Given the description of an element on the screen output the (x, y) to click on. 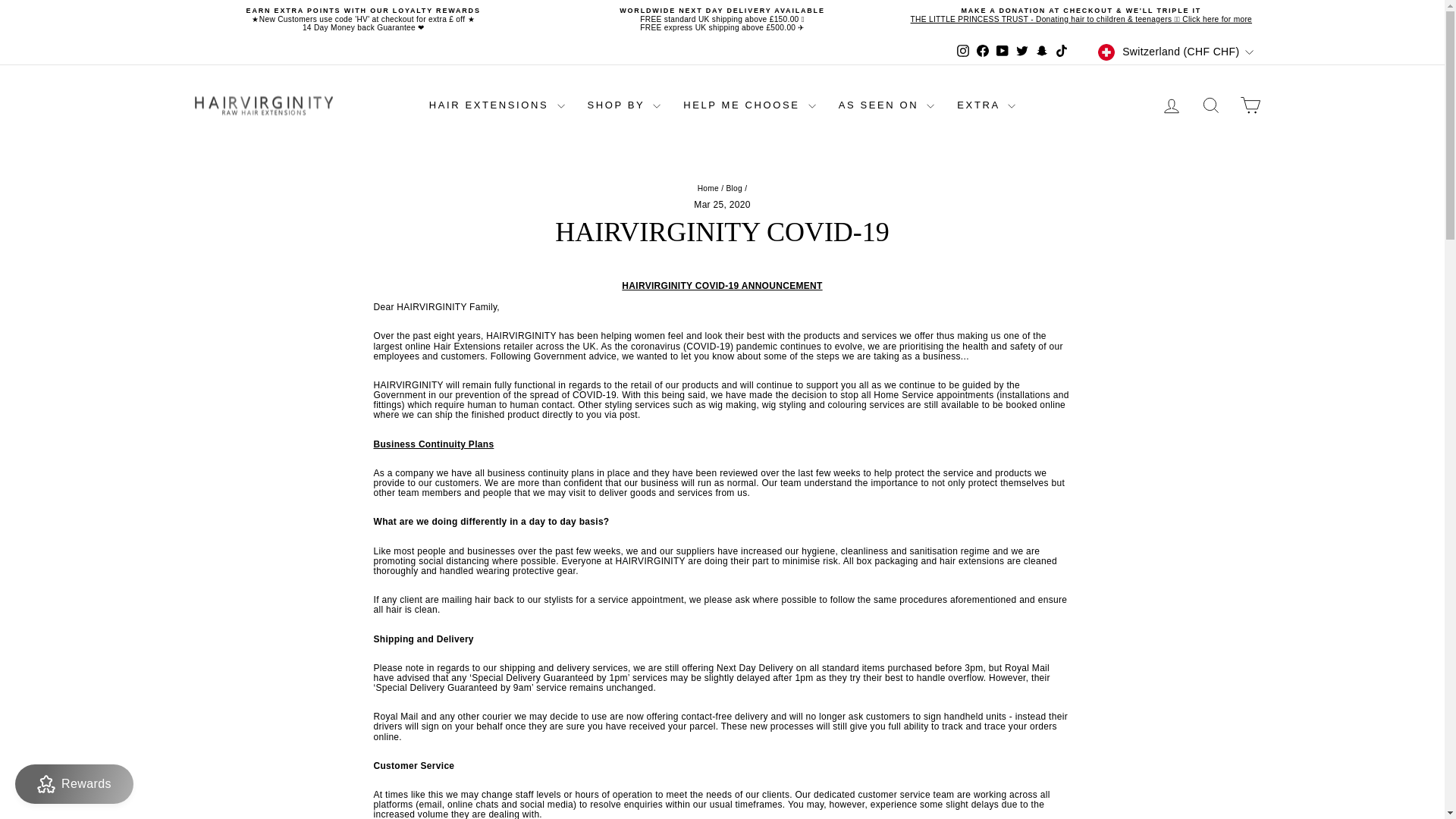
HAIRVIRGINITY on Instagram (962, 52)
HAIRVIRGINITY on Facebook (982, 52)
HAIRVIRGINITY on TikTok (1061, 52)
Back to the frontpage (708, 188)
ICON-SEARCH (1210, 105)
instagram (962, 50)
HAIRVIRGINITY on Twitter (1021, 52)
ACCOUNT (1170, 106)
HAIRVIRGINITY on Snapchat (1041, 52)
twitter (1021, 50)
